Given the description of an element on the screen output the (x, y) to click on. 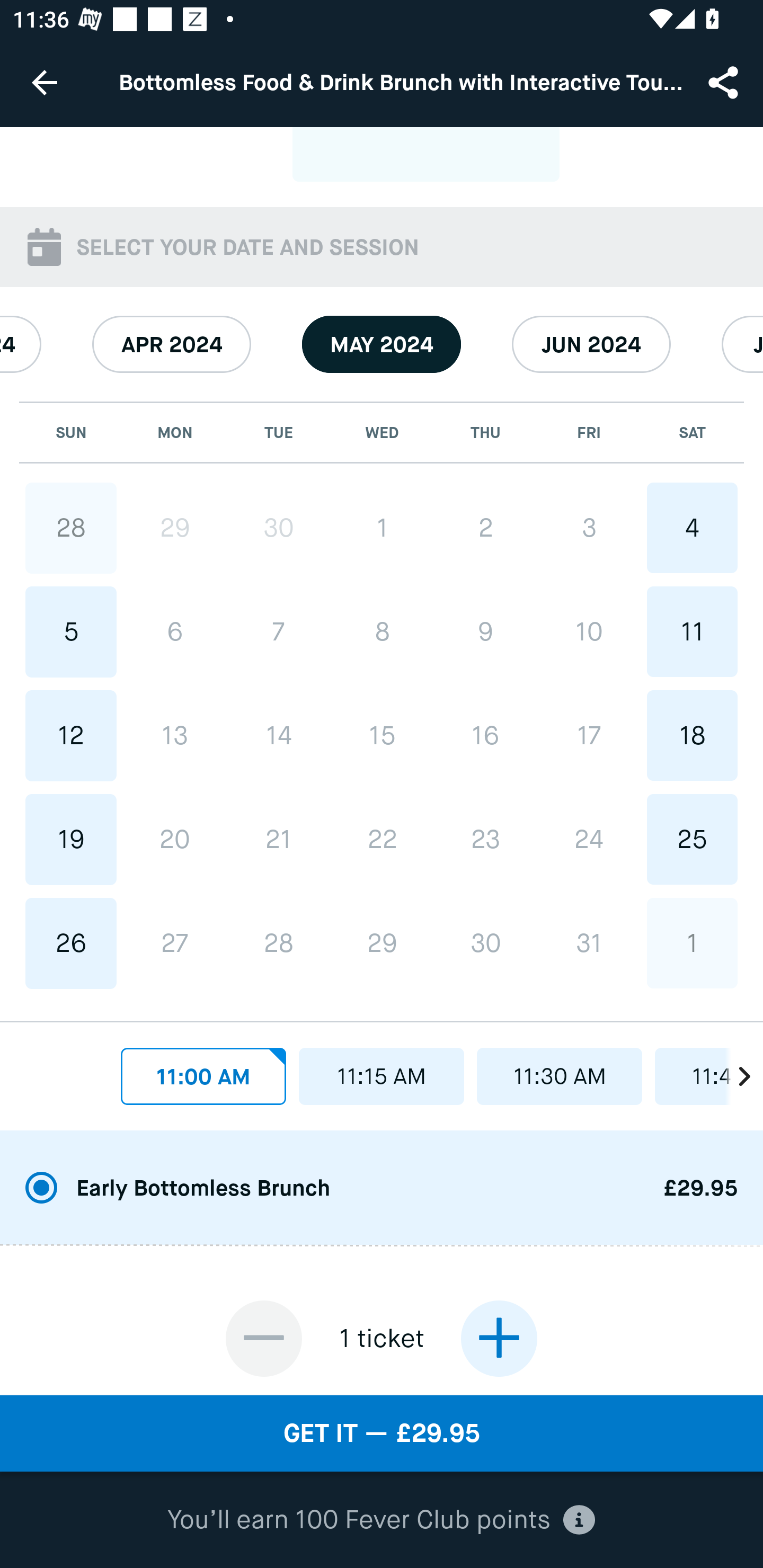
Navigate up (44, 82)
Share (724, 81)
APR 2024 (171, 343)
MAY 2024 (381, 343)
JUN 2024 (590, 343)
28 (70, 527)
29 (174, 527)
30 (278, 527)
1 (382, 527)
2 (485, 527)
3 (588, 527)
4 (692, 527)
5 (70, 631)
6 (174, 631)
7 (278, 631)
8 (382, 631)
9 (485, 631)
10 (588, 631)
11 (692, 631)
12 (70, 734)
13 (174, 734)
14 (278, 734)
15 (382, 734)
16 (485, 734)
17 (588, 734)
18 (692, 734)
19 (70, 839)
20 (174, 839)
21 (278, 839)
22 (382, 838)
23 (485, 838)
24 (588, 838)
25 (692, 838)
26 (70, 943)
27 (174, 943)
28 (278, 943)
29 (382, 942)
30 (485, 942)
31 (588, 942)
1 (692, 942)
chevron (734, 1071)
11:00 AM (203, 1076)
11:15 AM (381, 1076)
11:30 AM (559, 1076)
Early Bottomless Brunch £29.95 (381, 1188)
decrease (263, 1337)
increase (498, 1337)
GET IT — £29.95 (381, 1433)
You’ll earn 100 Fever Club points (381, 1519)
